Given the description of an element on the screen output the (x, y) to click on. 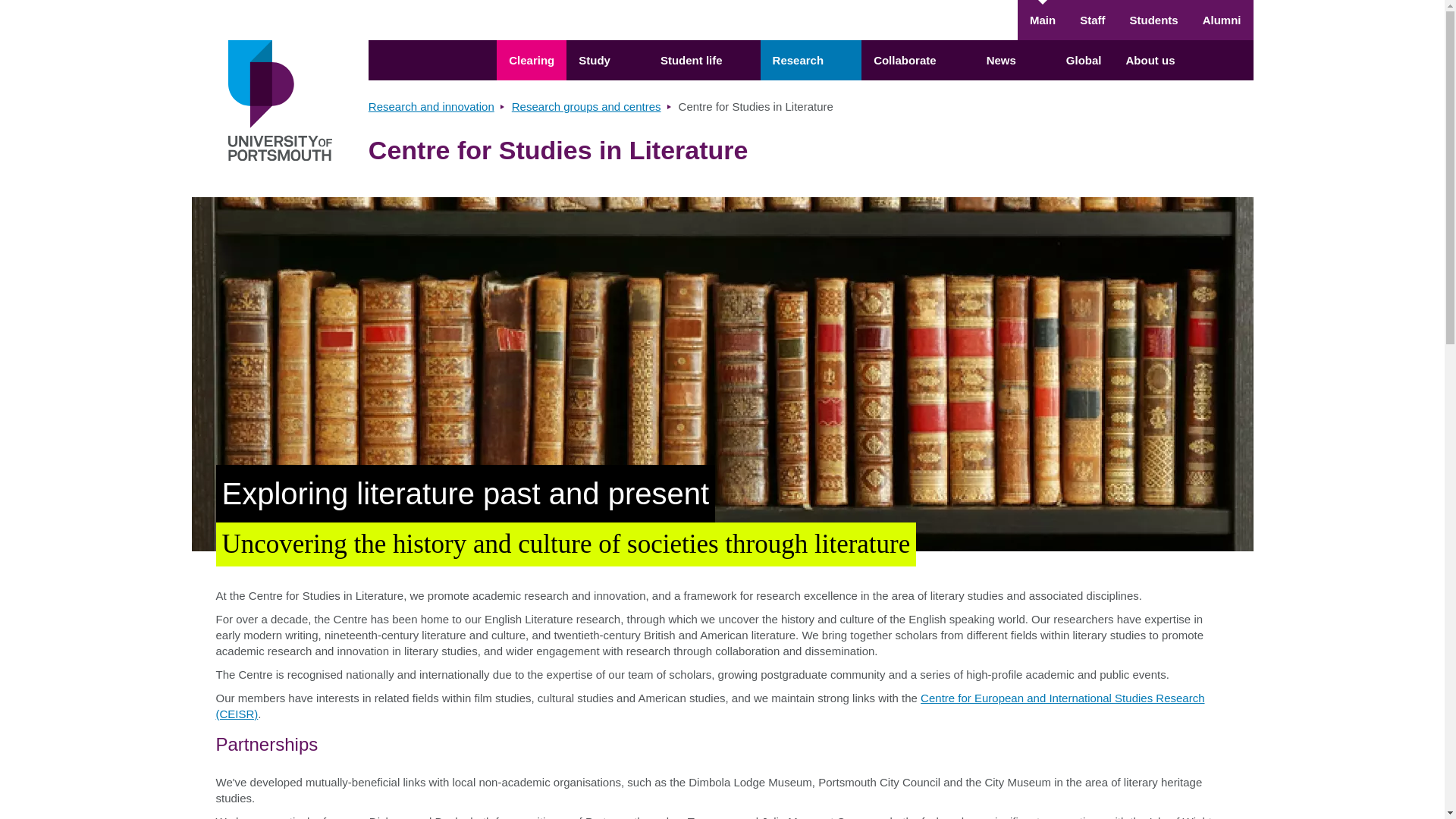
Main (1042, 20)
Skip to main content (721, 9)
Clearing (531, 60)
Alumni (1222, 20)
Student life (703, 60)
Students (1152, 20)
Study (606, 60)
Staff (1091, 20)
